Given the description of an element on the screen output the (x, y) to click on. 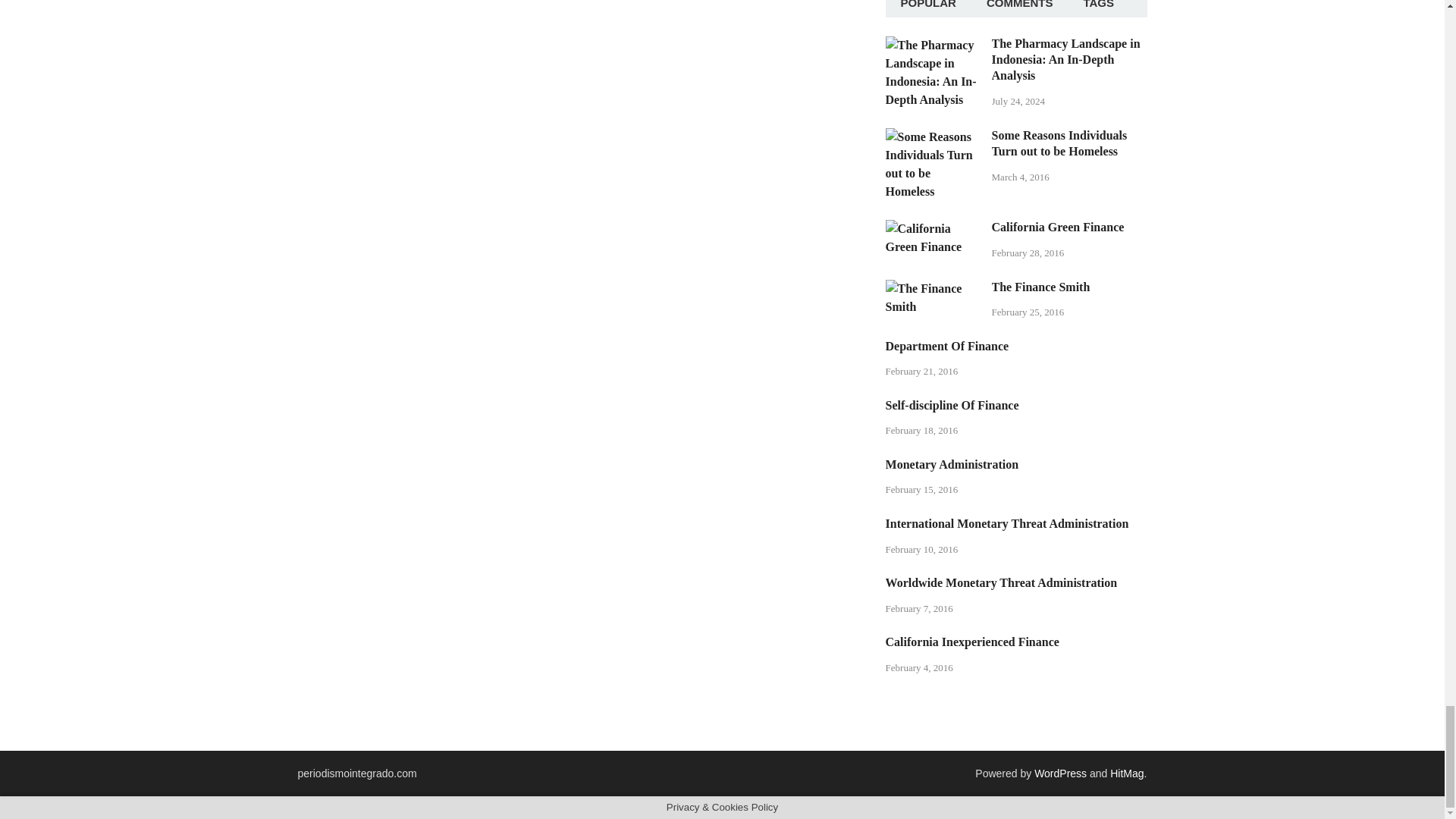
The Pharmacy Landscape in Indonesia: An In-Depth Analysis (932, 44)
The Finance Smith (932, 287)
Some Reasons Individuals Turn out to be Homeless (932, 136)
California Green Finance (932, 228)
